Given the description of an element on the screen output the (x, y) to click on. 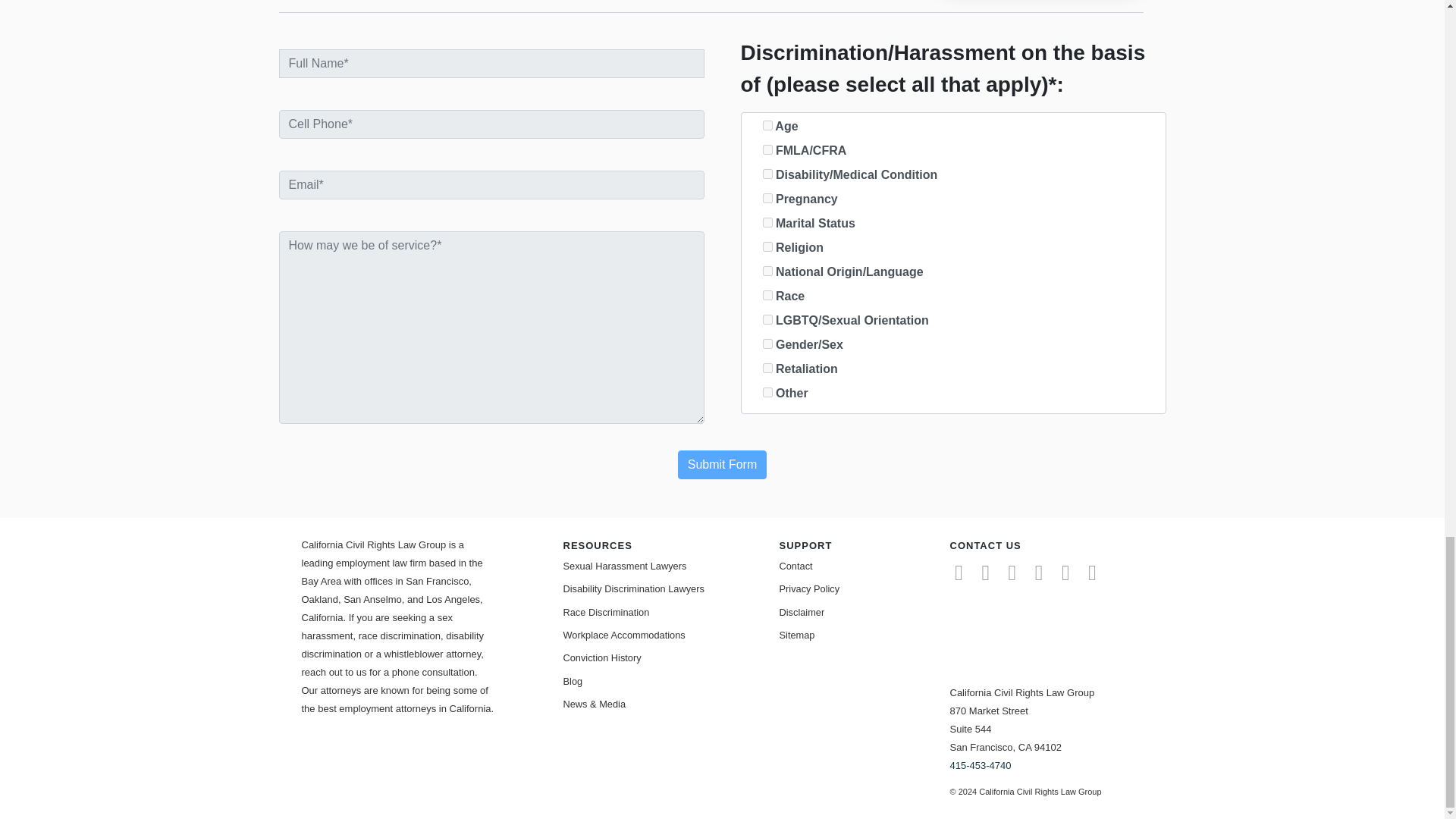
Privacy Policy (875, 589)
Sitemap (875, 635)
Race Discrimination (658, 611)
Religion (767, 246)
Pregnancy (767, 198)
Retaliation (767, 368)
Contact (875, 566)
Sexual Harassment Lawyers (658, 566)
Race (767, 295)
Other (767, 392)
Sexual Harassment Lawyers (658, 566)
Submit Form (722, 464)
Age (767, 125)
Marital Status (767, 222)
Workplace Accommodations (658, 635)
